Given the description of an element on the screen output the (x, y) to click on. 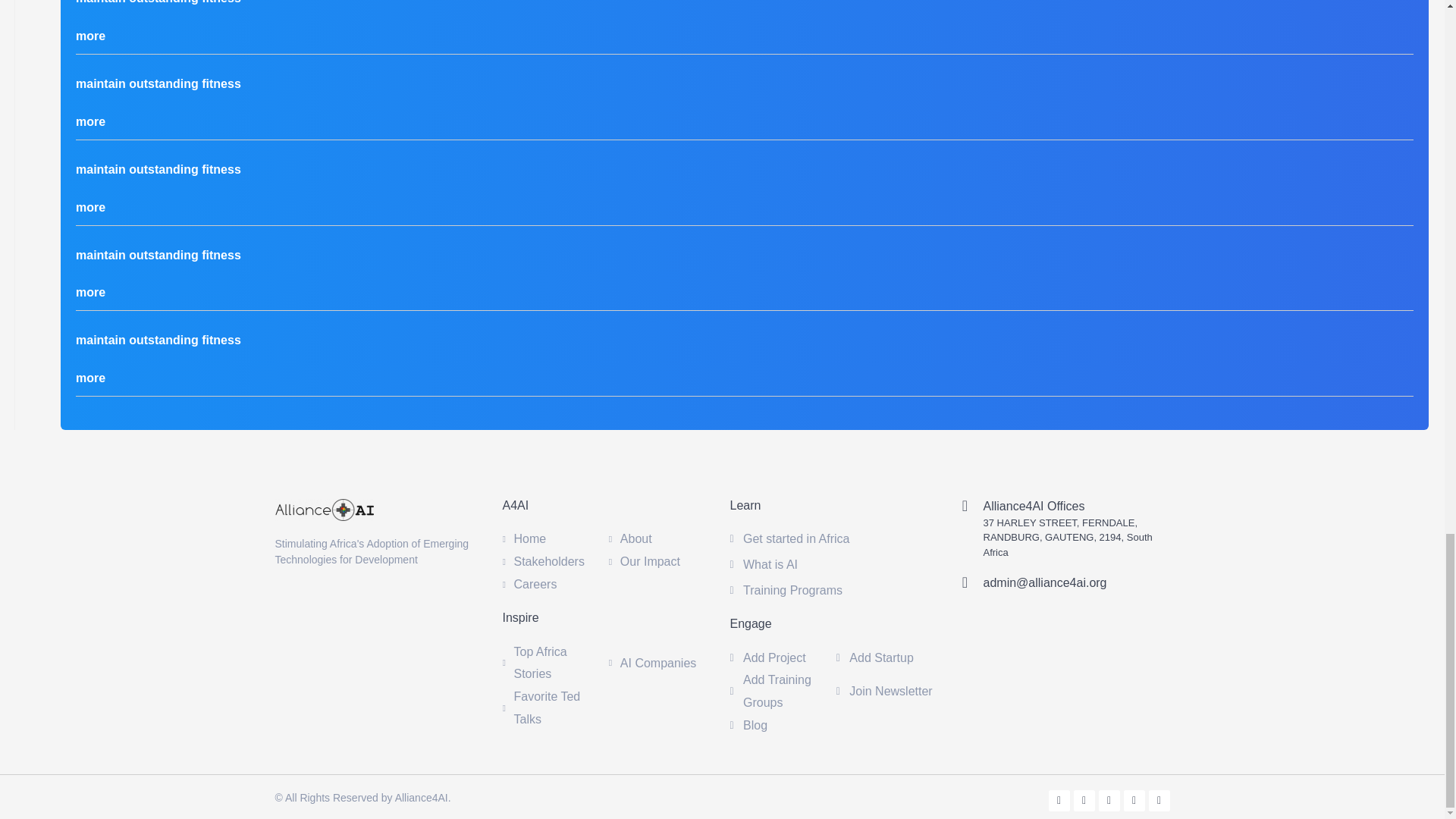
footer-logo (323, 509)
